Given the description of an element on the screen output the (x, y) to click on. 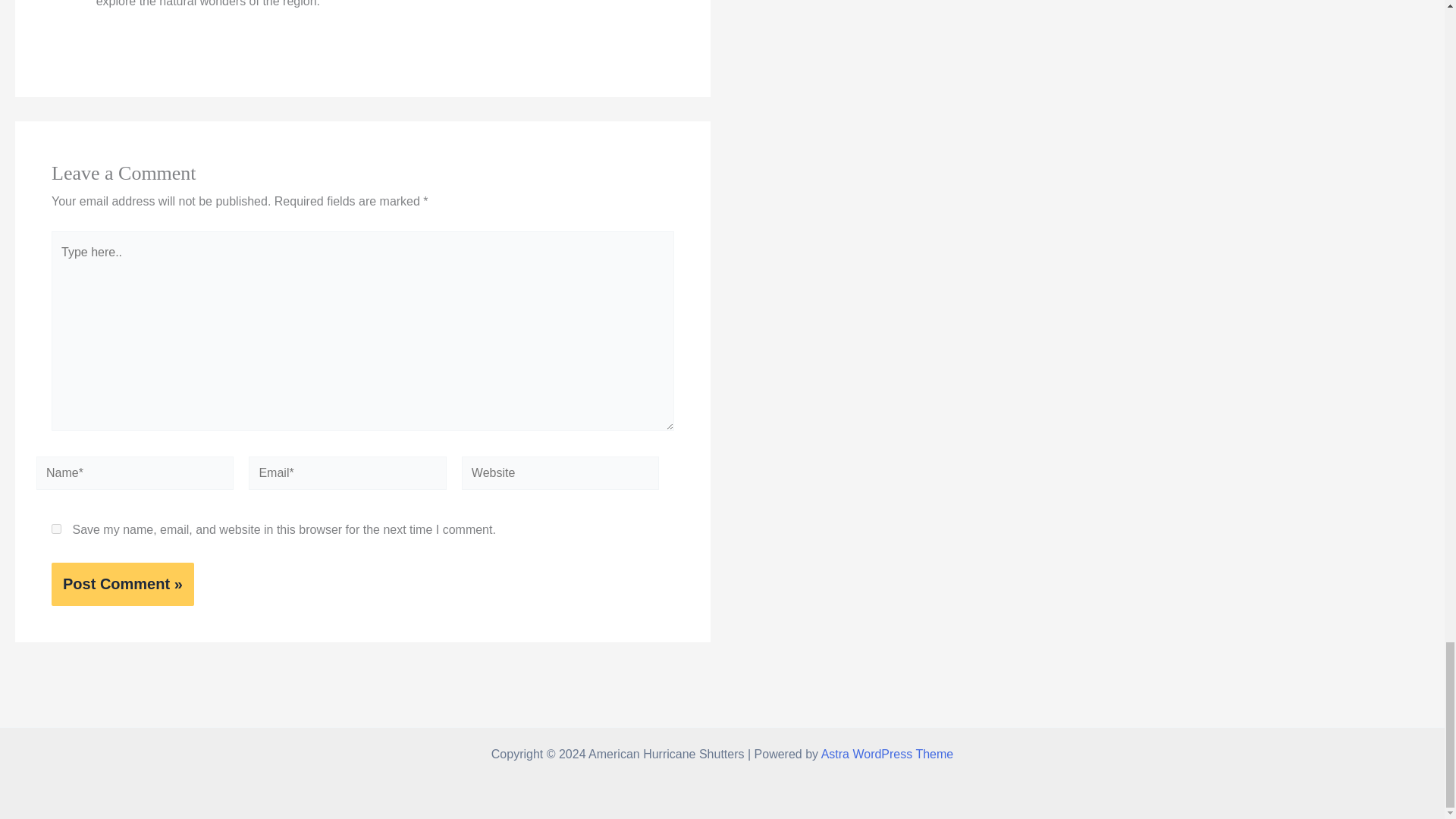
yes (55, 528)
